Given the description of an element on the screen output the (x, y) to click on. 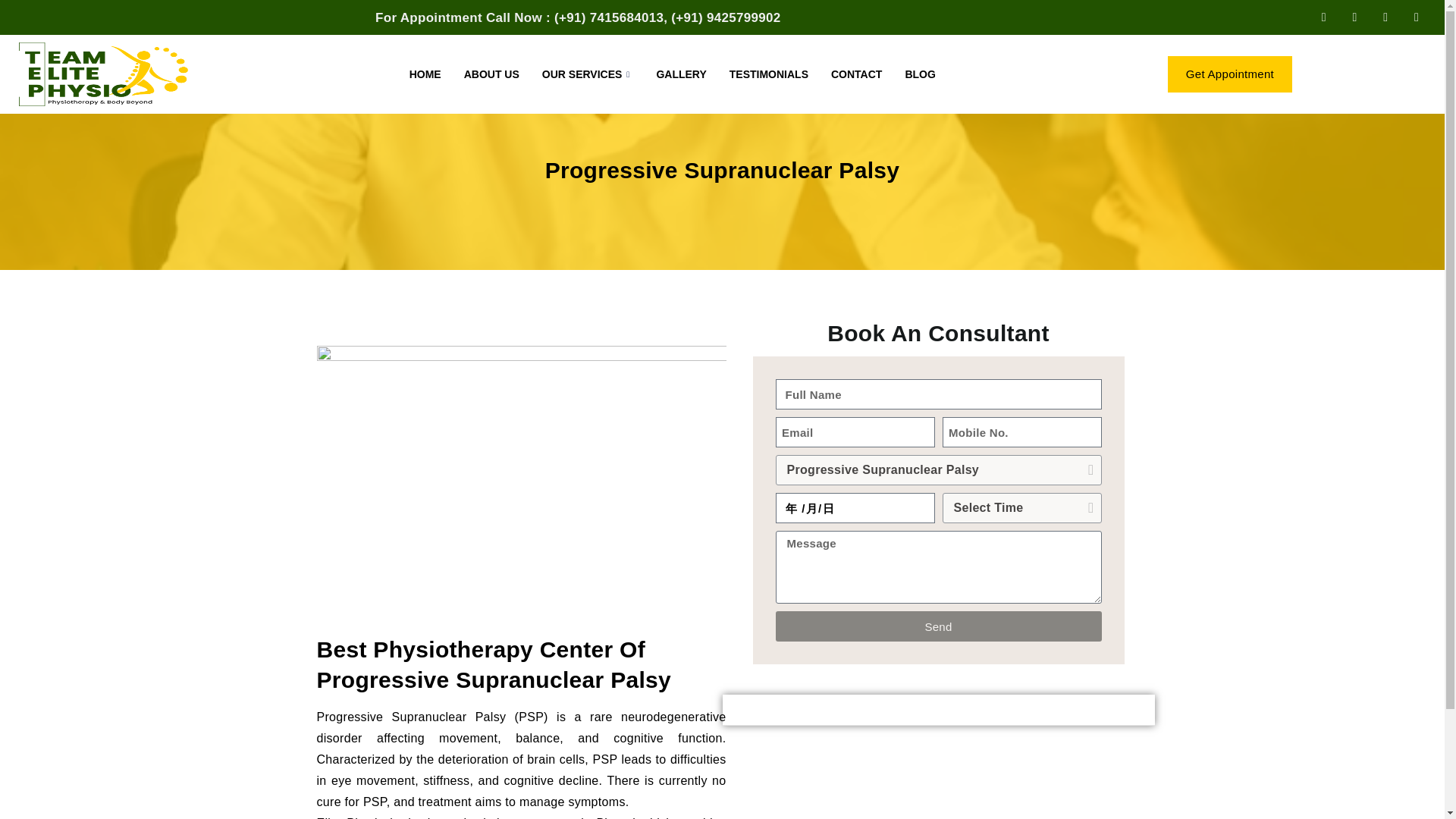
CONTACT (856, 73)
BLOG (919, 73)
Send (937, 625)
HOME (424, 73)
OUR SERVICES (588, 73)
Get Appointment (1229, 74)
GALLERY (681, 73)
ABOUT US (491, 73)
TESTIMONIALS (768, 73)
